Given the description of an element on the screen output the (x, y) to click on. 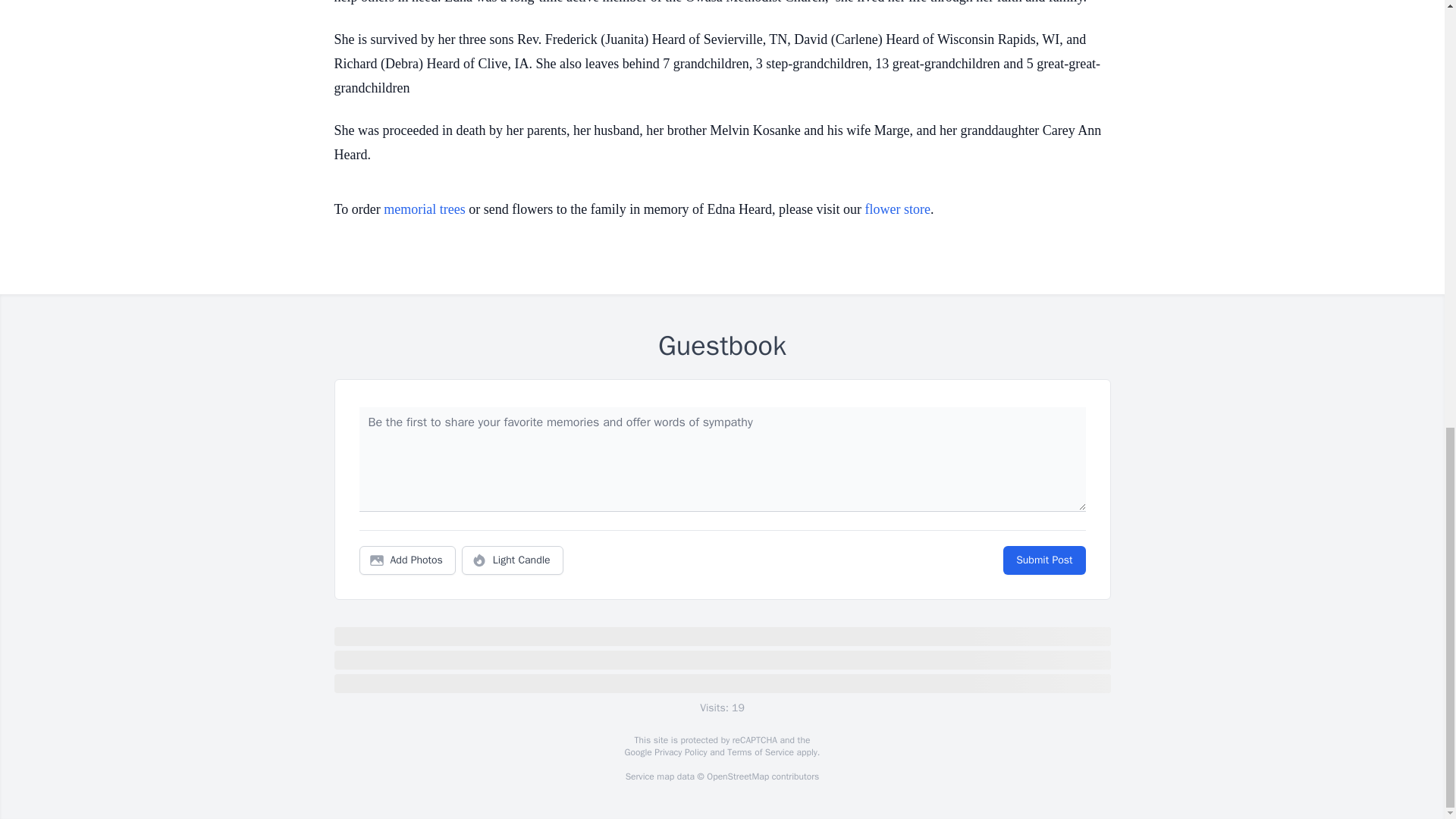
Privacy Policy (679, 752)
Terms of Service (759, 752)
flower store (897, 209)
Add Photos (407, 560)
Submit Post (1043, 560)
memorial trees (424, 209)
Light Candle (512, 560)
OpenStreetMap (737, 776)
